Given the description of an element on the screen output the (x, y) to click on. 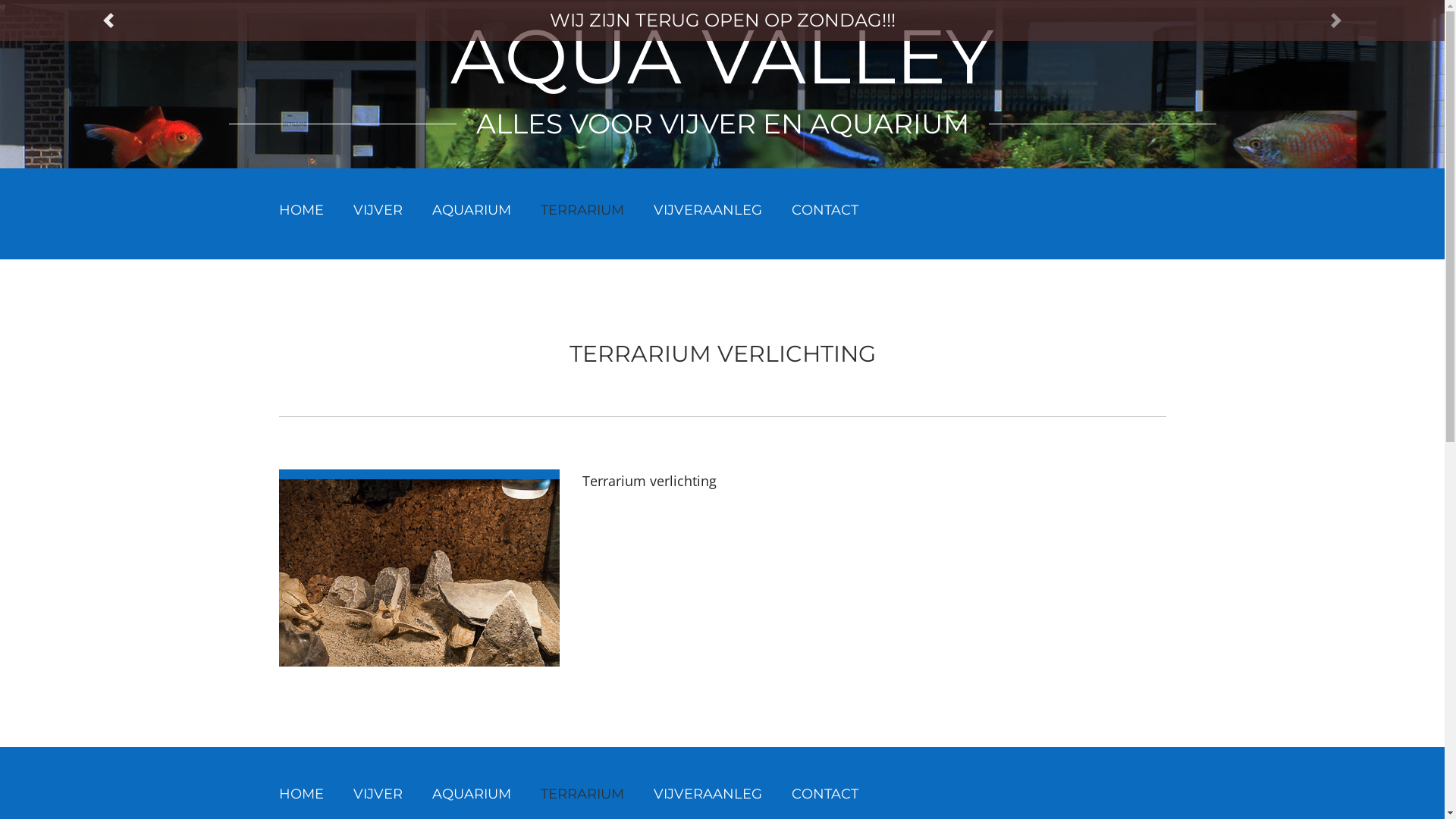
TERRARIUM Element type: text (581, 209)
AQUARIUM Element type: text (471, 793)
HOME Element type: text (301, 793)
PREVIOUS Element type: text (108, 4)
VIJVER Element type: text (377, 793)
HOME Element type: text (301, 209)
AQUA VALLEY Element type: text (722, 55)
VIJVERAANLEG Element type: text (707, 793)
CONTACT Element type: text (824, 793)
NEXT Element type: text (1335, 4)
CONTACT Element type: text (824, 209)
AQUARIUM Element type: text (471, 209)
VIJVERAANLEG Element type: text (707, 209)
TERRARIUM Element type: text (581, 793)
VIJVER Element type: text (377, 209)
